Given the description of an element on the screen output the (x, y) to click on. 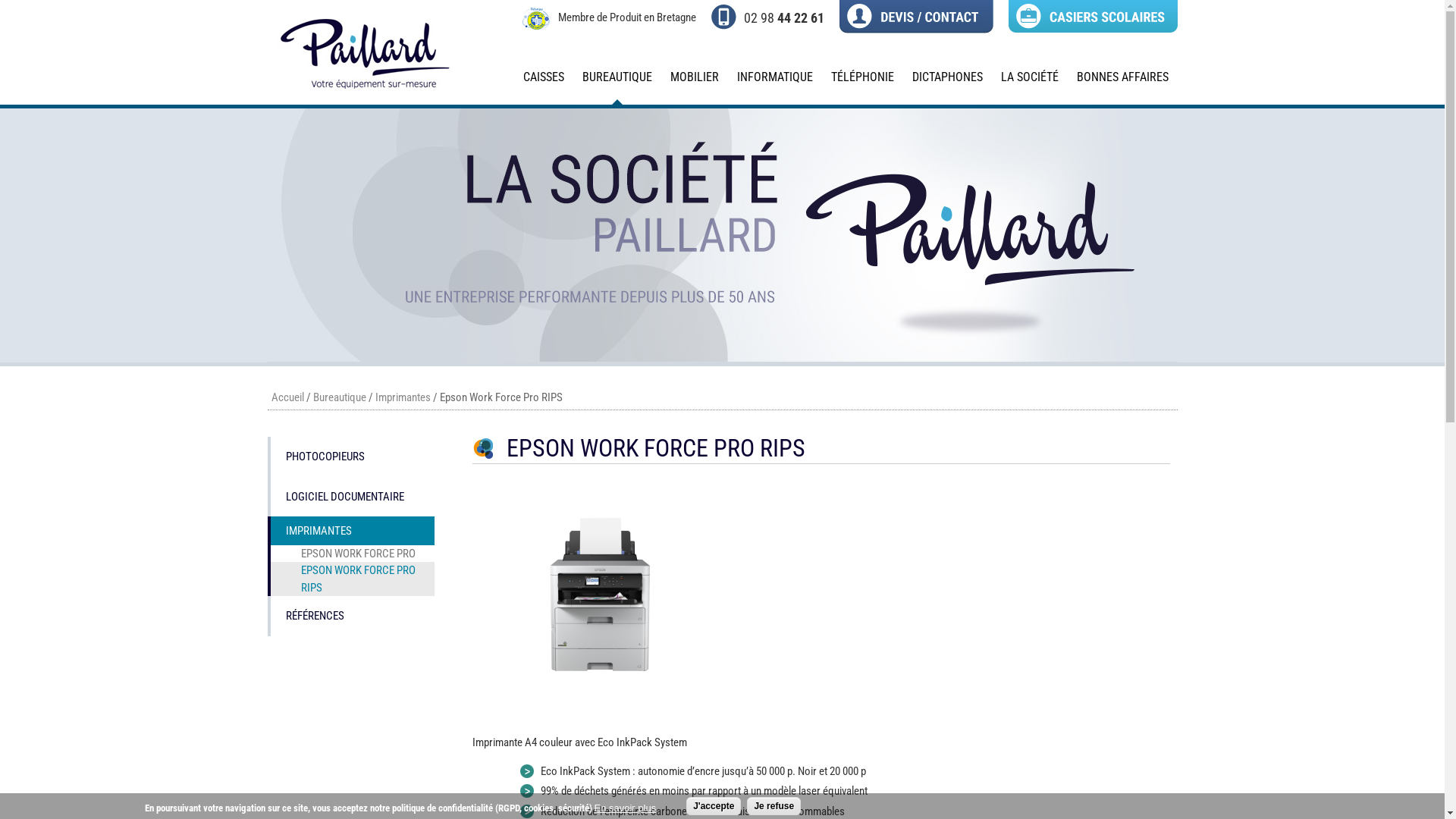
Je refuse Element type: text (773, 806)
Aller au contenu principal Element type: text (48, 0)
Accueil Element type: hover (361, 96)
Bureautique Element type: text (338, 396)
Imprimantes Element type: text (401, 396)
BONNES AFFAIRES Element type: text (1122, 83)
EPSON WORK FORCE PRO RIPS Element type: text (349, 578)
J'accepte Element type: text (713, 806)
Accueil Element type: text (287, 396)
EPSON WORK FORCE PRO Element type: text (349, 552)
IMPRIMANTES Element type: text (349, 530)
PHOTOCOPIEURS Element type: text (349, 456)
LOGICIEL DOCUMENTAIRE Element type: text (349, 496)
En savoir plus Element type: text (625, 807)
